Given the description of an element on the screen output the (x, y) to click on. 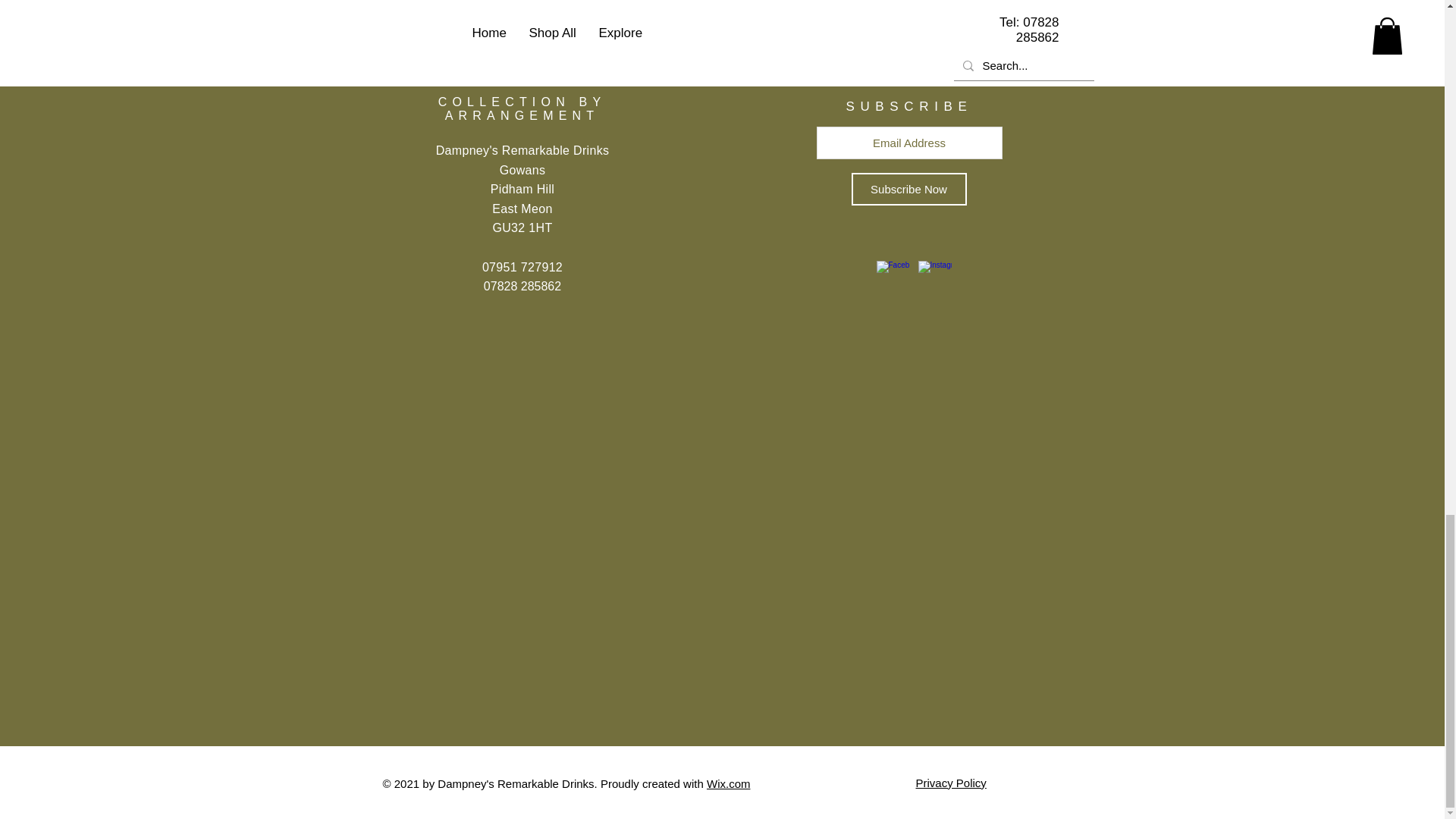
The Old Smithy (512, 3)
Compton Mcrae (717, 3)
Wix.com (728, 783)
Privacy Policy (951, 782)
Subscribe Now (908, 188)
